Given the description of an element on the screen output the (x, y) to click on. 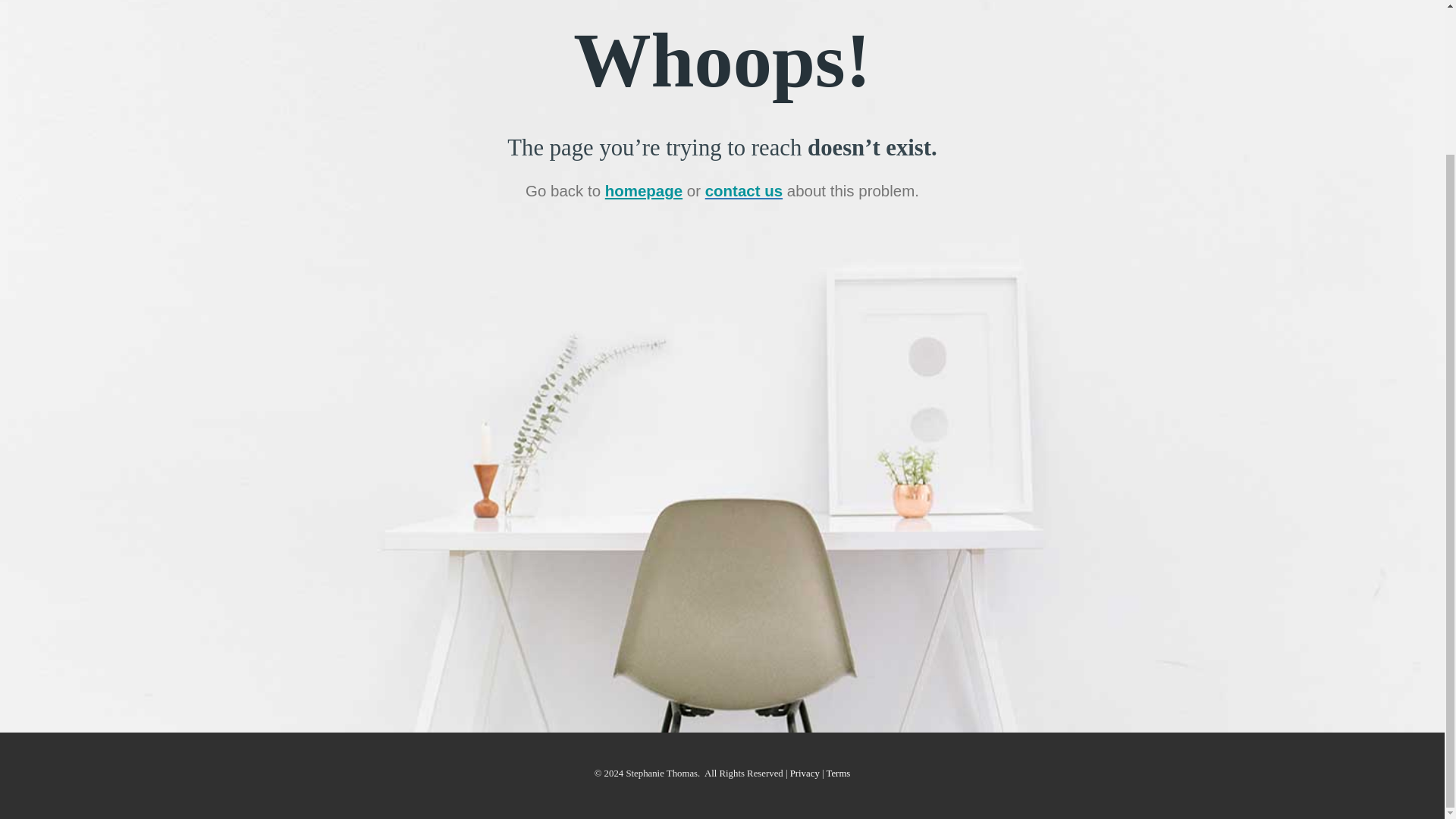
Privacy (804, 773)
contact us (743, 190)
Terms (838, 773)
homepage (643, 190)
